Given the description of an element on the screen output the (x, y) to click on. 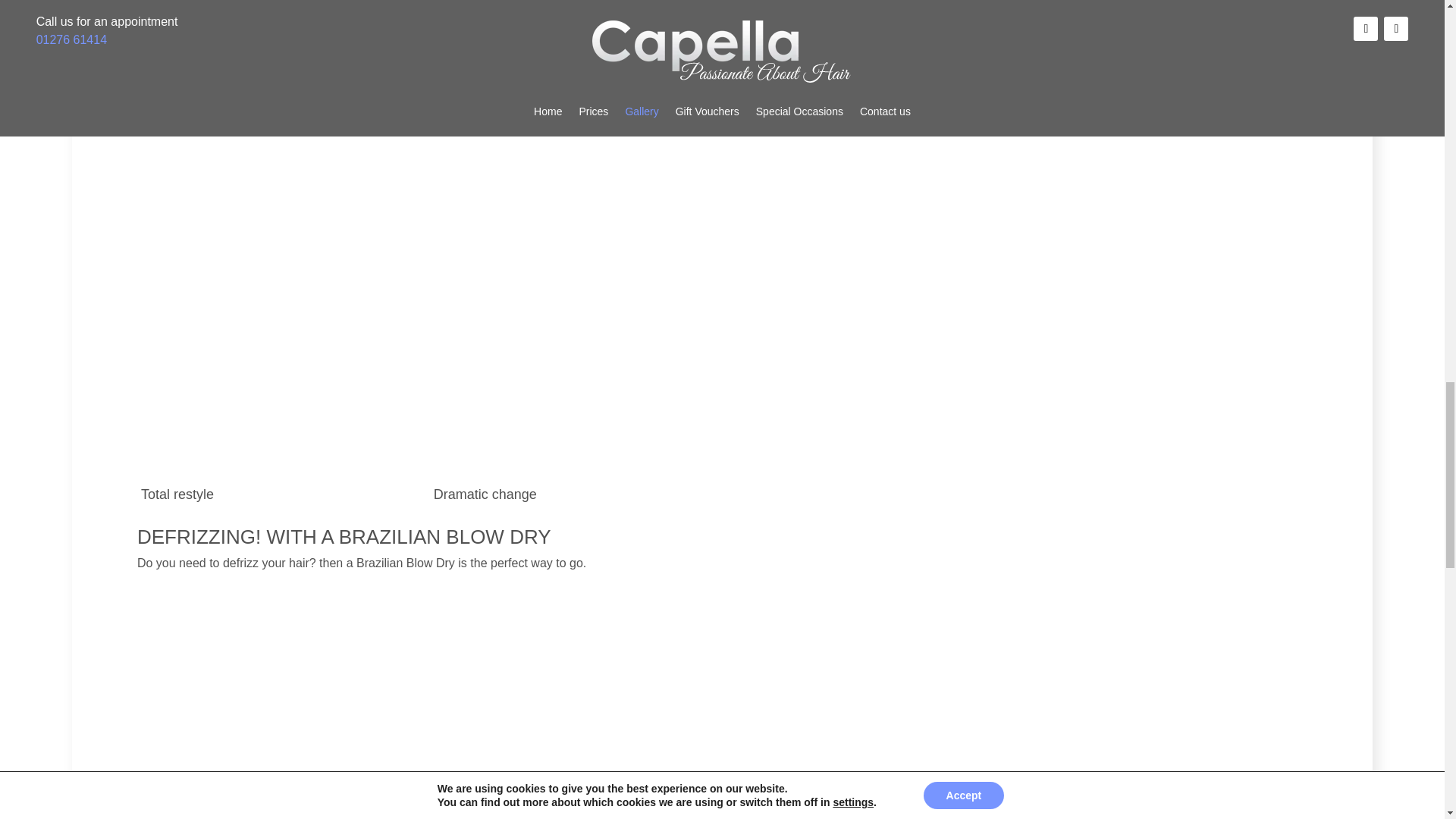
Short bob with layers (1160, 78)
Total restyle (283, 475)
Sleek bob (868, 78)
Textured haircut (576, 78)
Cut and blow dry (283, 78)
